Given the description of an element on the screen output the (x, y) to click on. 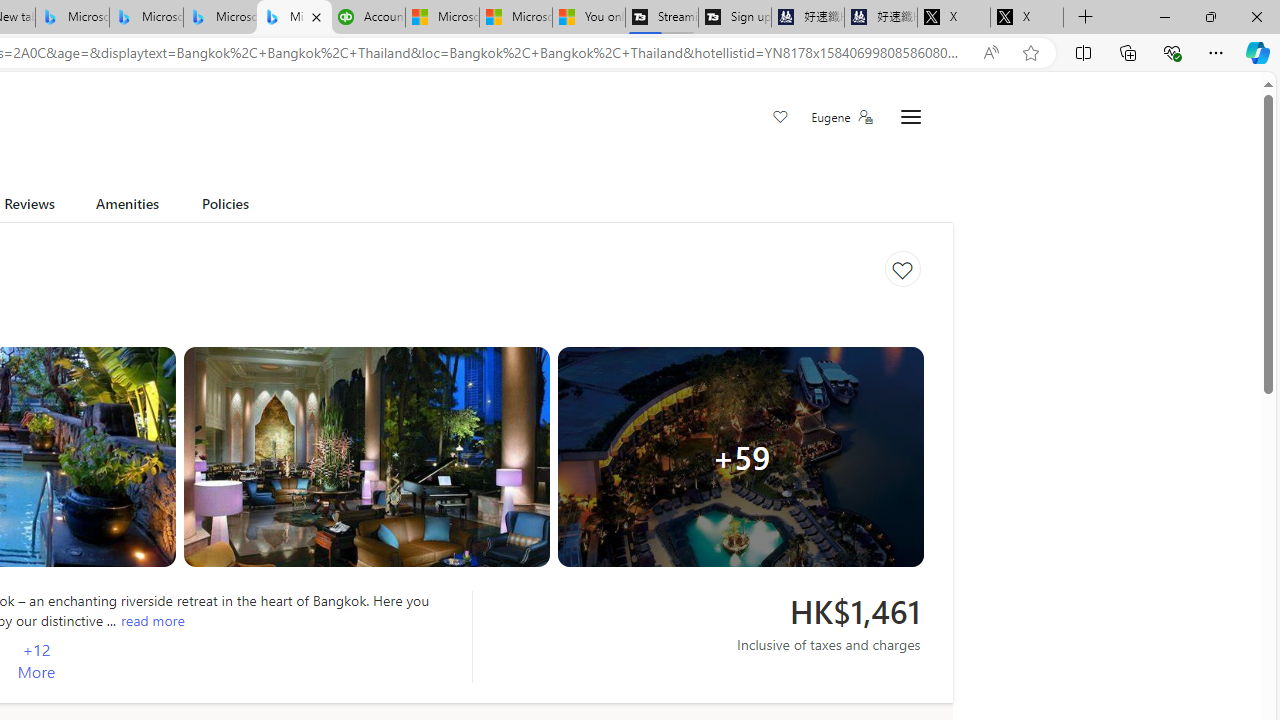
Accounting Software for Accountants, CPAs and Bookkeepers (367, 17)
Hotel room image + 59 (740, 456)
+12 More Amenities (36, 661)
Eugene (841, 117)
Save (780, 118)
